Given the description of an element on the screen output the (x, y) to click on. 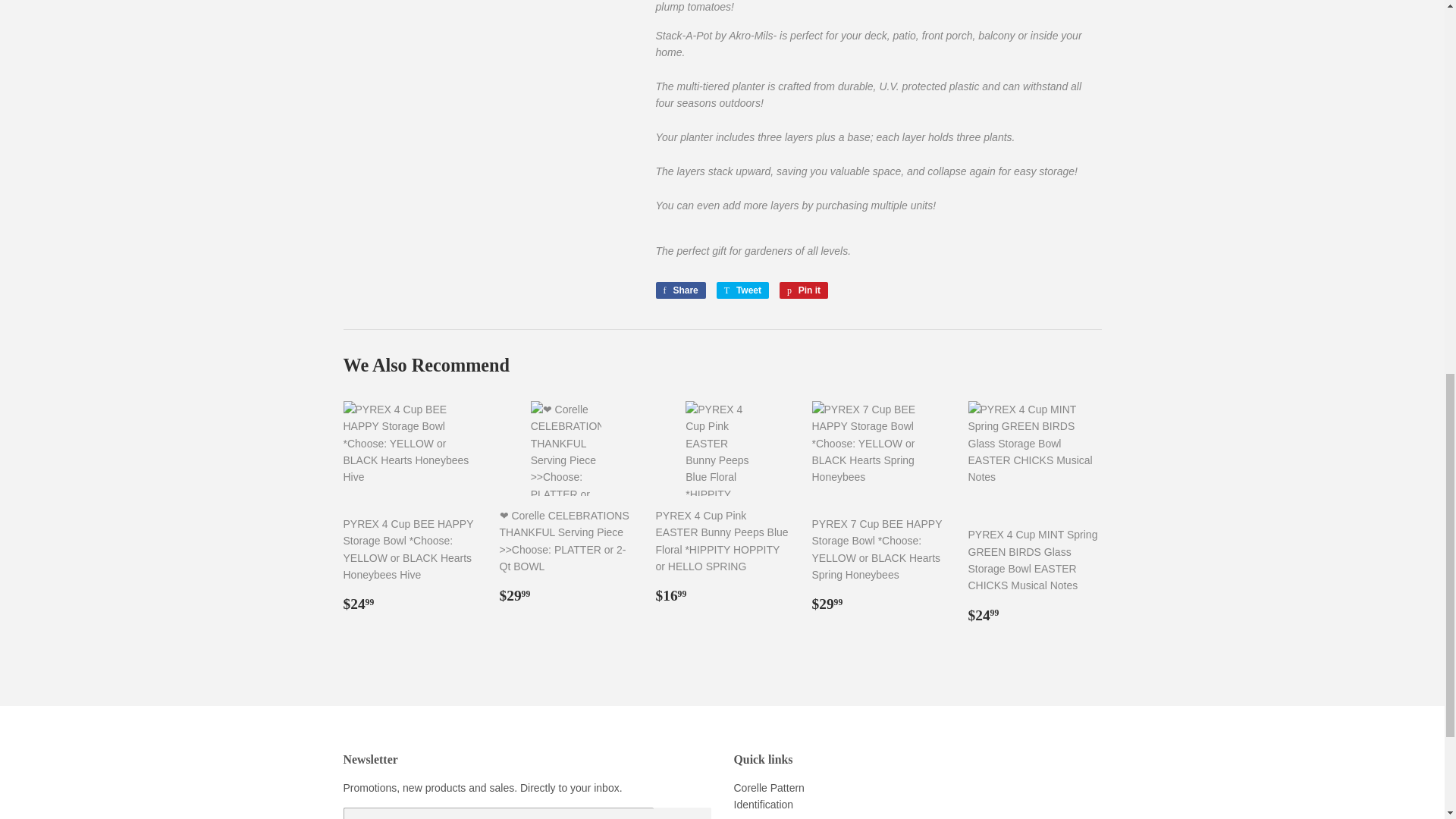
Share on Facebook (679, 289)
Tweet on Twitter (742, 289)
Pin on Pinterest (803, 289)
